Given the description of an element on the screen output the (x, y) to click on. 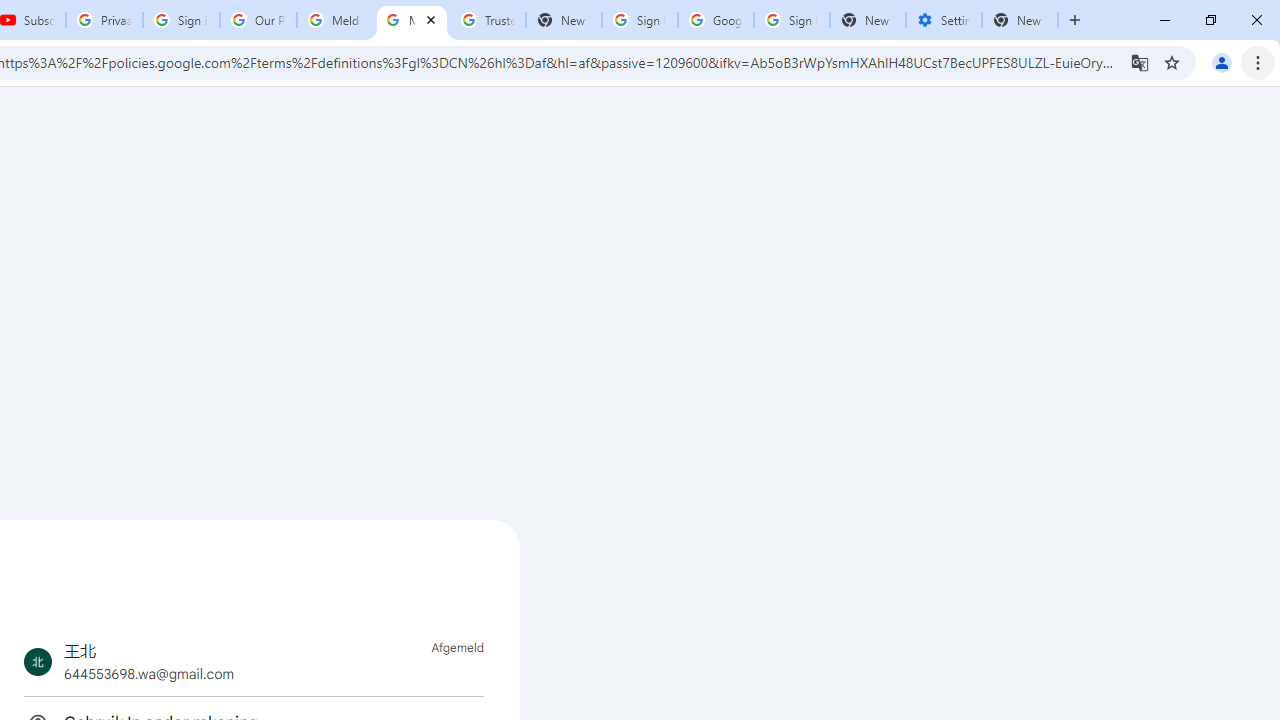
Translate this page (1139, 62)
Sign in - Google Accounts (791, 20)
Google Cybersecurity Innovations - Google Safety Center (715, 20)
Trusted Information and Content - Google Safety Center (488, 20)
New Tab (867, 20)
Settings - Addresses and more (943, 20)
Sign in - Google Accounts (639, 20)
